Given the description of an element on the screen output the (x, y) to click on. 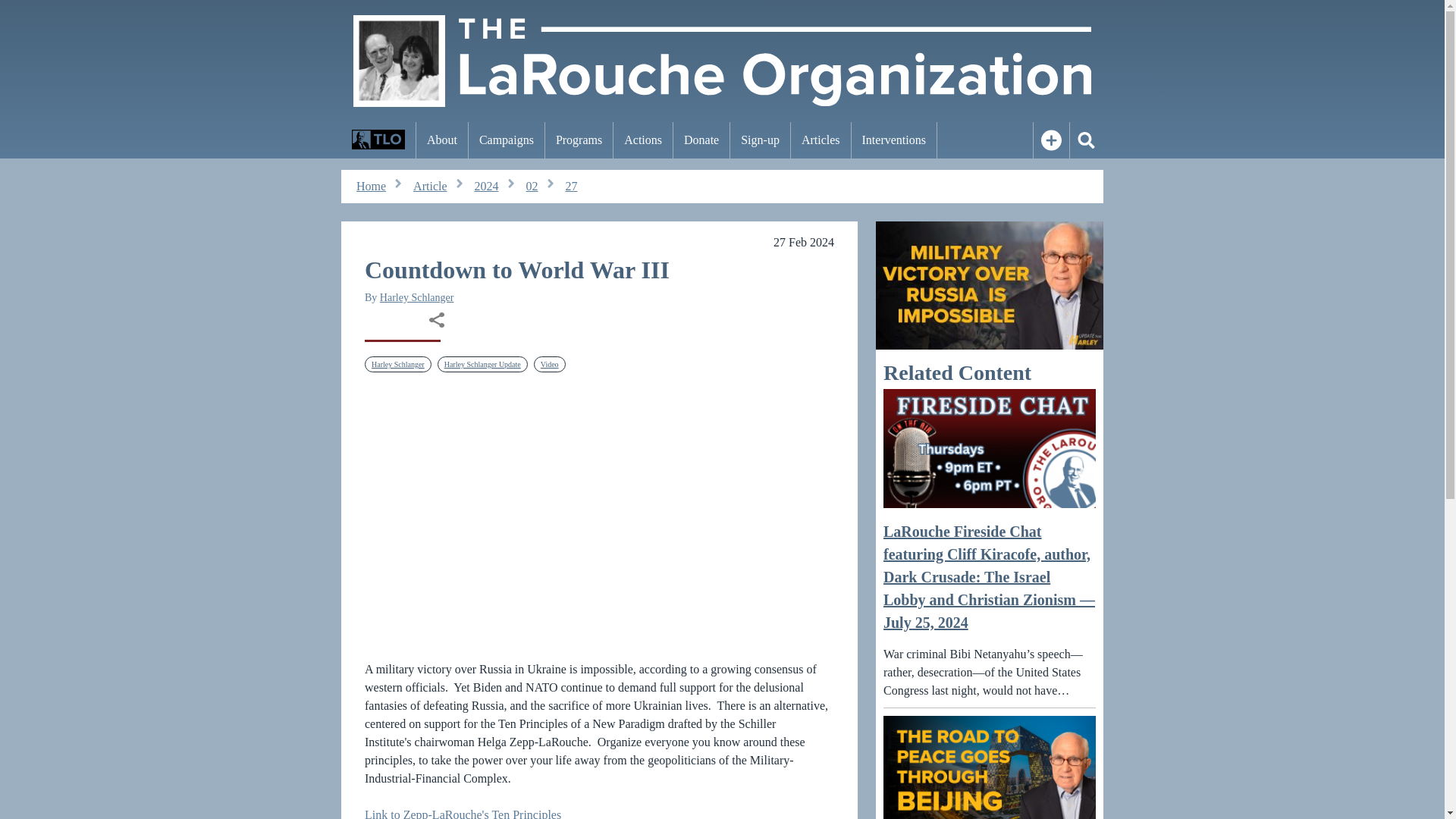
Actions (642, 140)
Countdown to World War III (599, 516)
About (441, 140)
Home (370, 186)
Sign-up (760, 140)
2024 (486, 186)
Interventions (893, 140)
Articles (820, 140)
Article (429, 186)
Programs (578, 140)
Campaigns (506, 140)
Donate (700, 140)
